Given the description of an element on the screen output the (x, y) to click on. 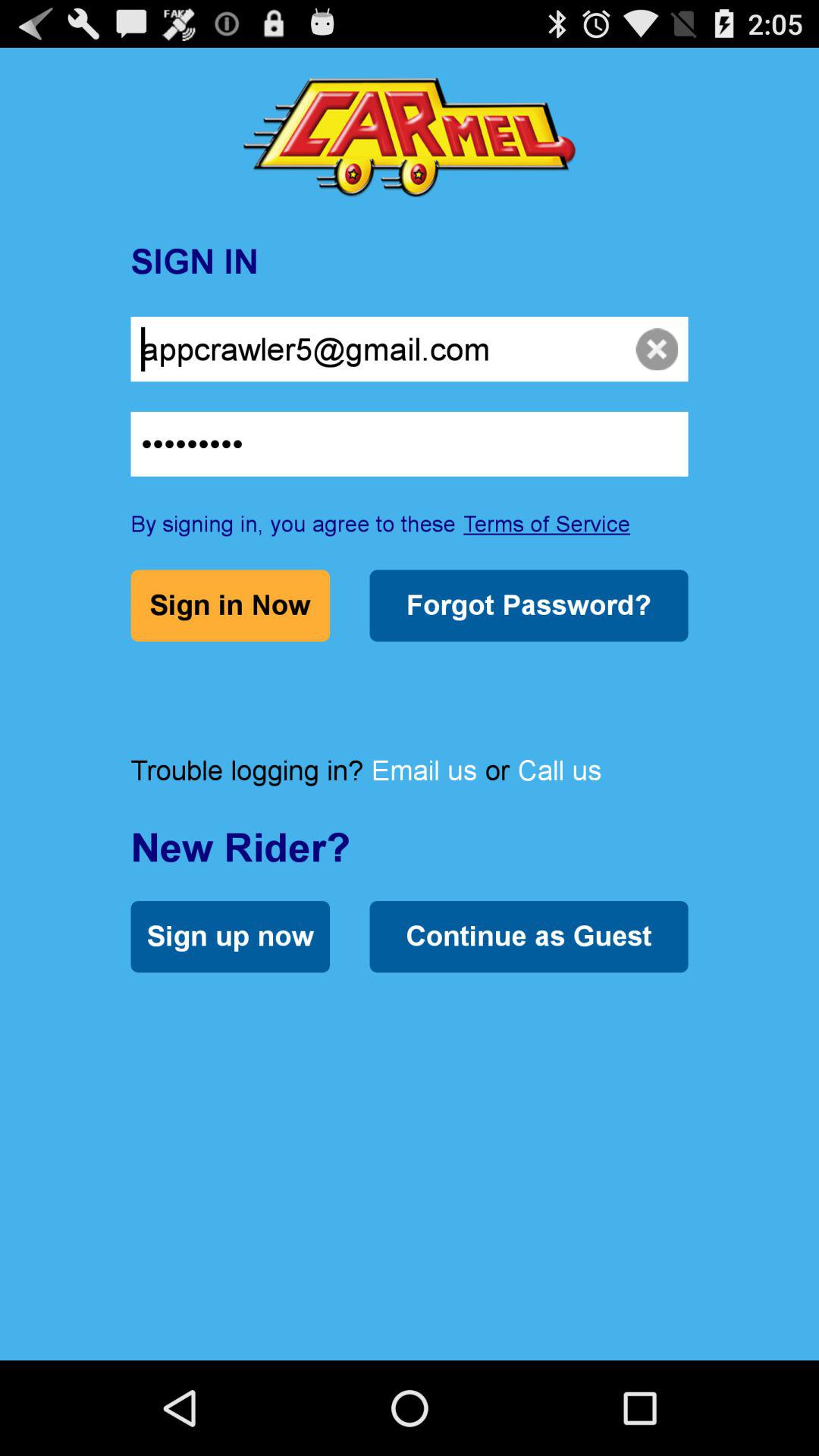
select the icon below the appcrawler5@gmail.com (409, 443)
